Given the description of an element on the screen output the (x, y) to click on. 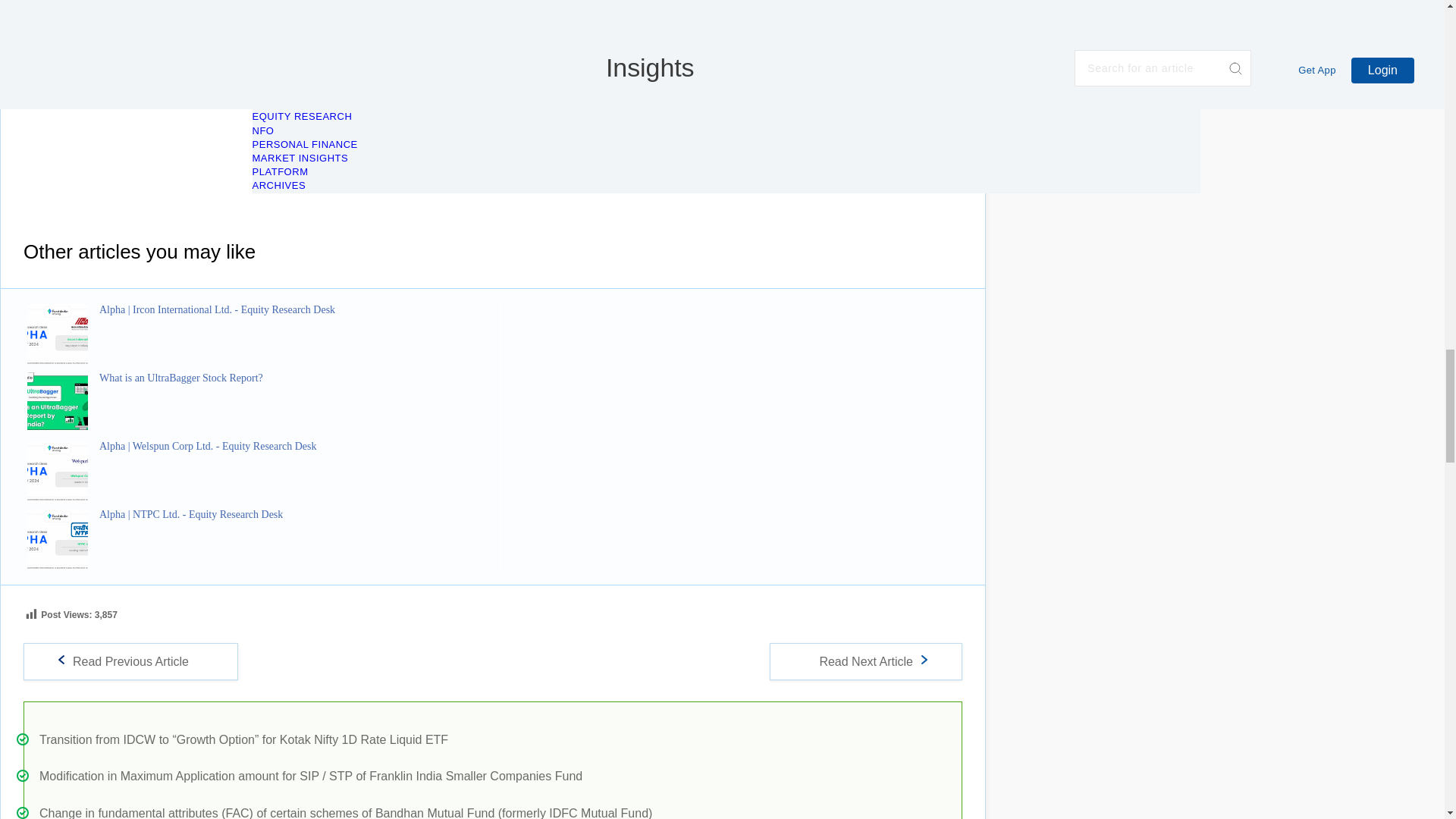
What is an UltraBagger Stock Report? (297, 378)
